Given the description of an element on the screen output the (x, y) to click on. 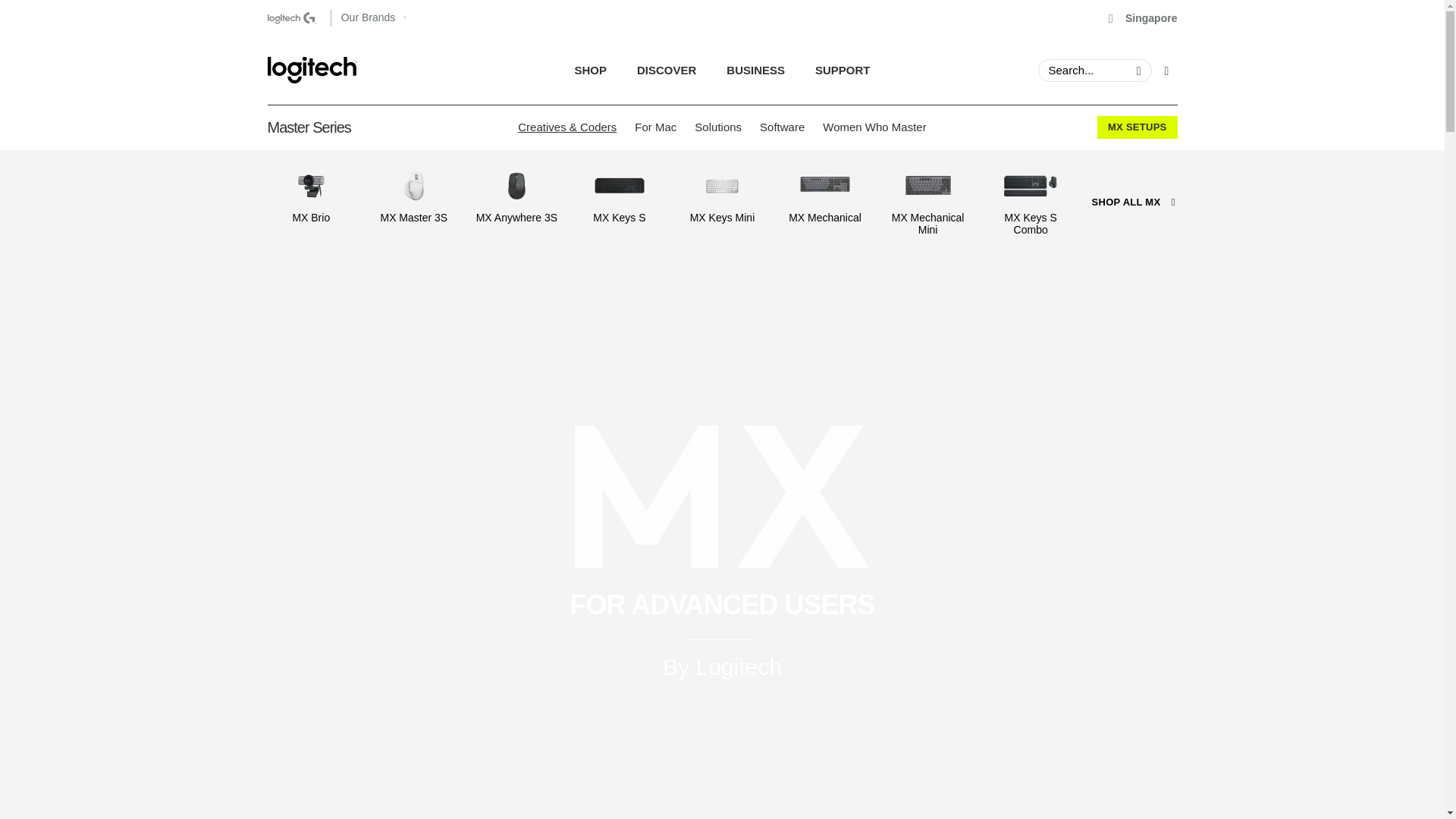
Our Brands (722, 70)
SHOP (722, 70)
Singapore (372, 18)
